Given the description of an element on the screen output the (x, y) to click on. 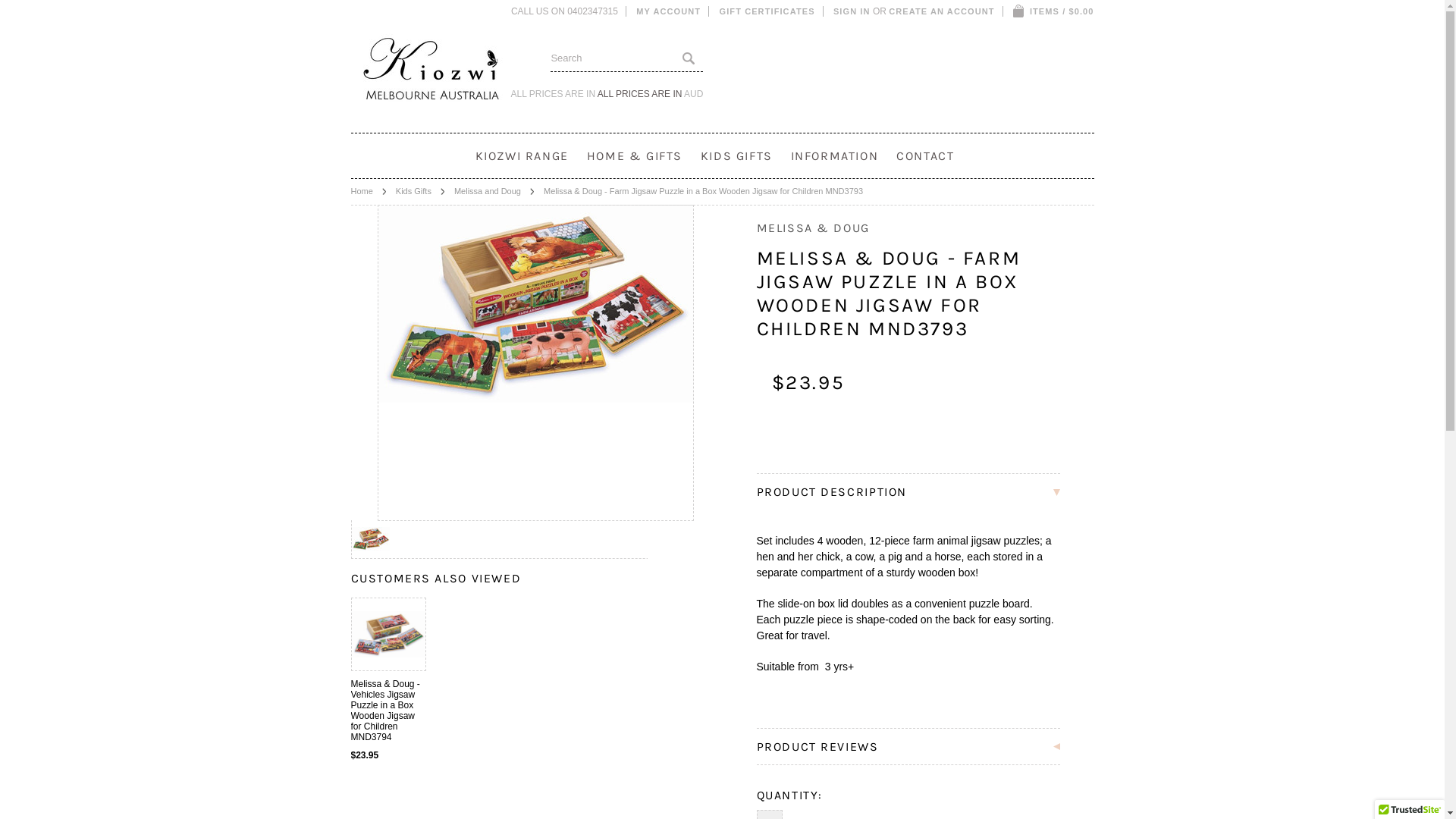
CREATE AN ACCOUNT Element type: text (941, 11)
Kids Gifts Element type: text (420, 190)
KIDS GIFTS Element type: text (736, 155)
 ITEMS / $0.00 Element type: text (1053, 11)
Home Element type: text (367, 190)
ALL PRICES ARE IN AUD Element type: text (650, 93)
GIFT CERTIFICATES Element type: text (767, 11)
CONTACT Element type: text (924, 155)
KIOZWI RANGE Element type: text (521, 155)
View Cart Element type: hover (1018, 11)
Melissa and Doug Element type: text (494, 190)
INFORMATION Element type: text (834, 155)
Search Element type: hover (688, 57)
MELISSA & DOUG Element type: text (812, 227)
HOME & GIFTS Element type: text (634, 155)
SIGN IN Element type: text (851, 11)
MY ACCOUNT Element type: text (668, 11)
